Given the description of an element on the screen output the (x, y) to click on. 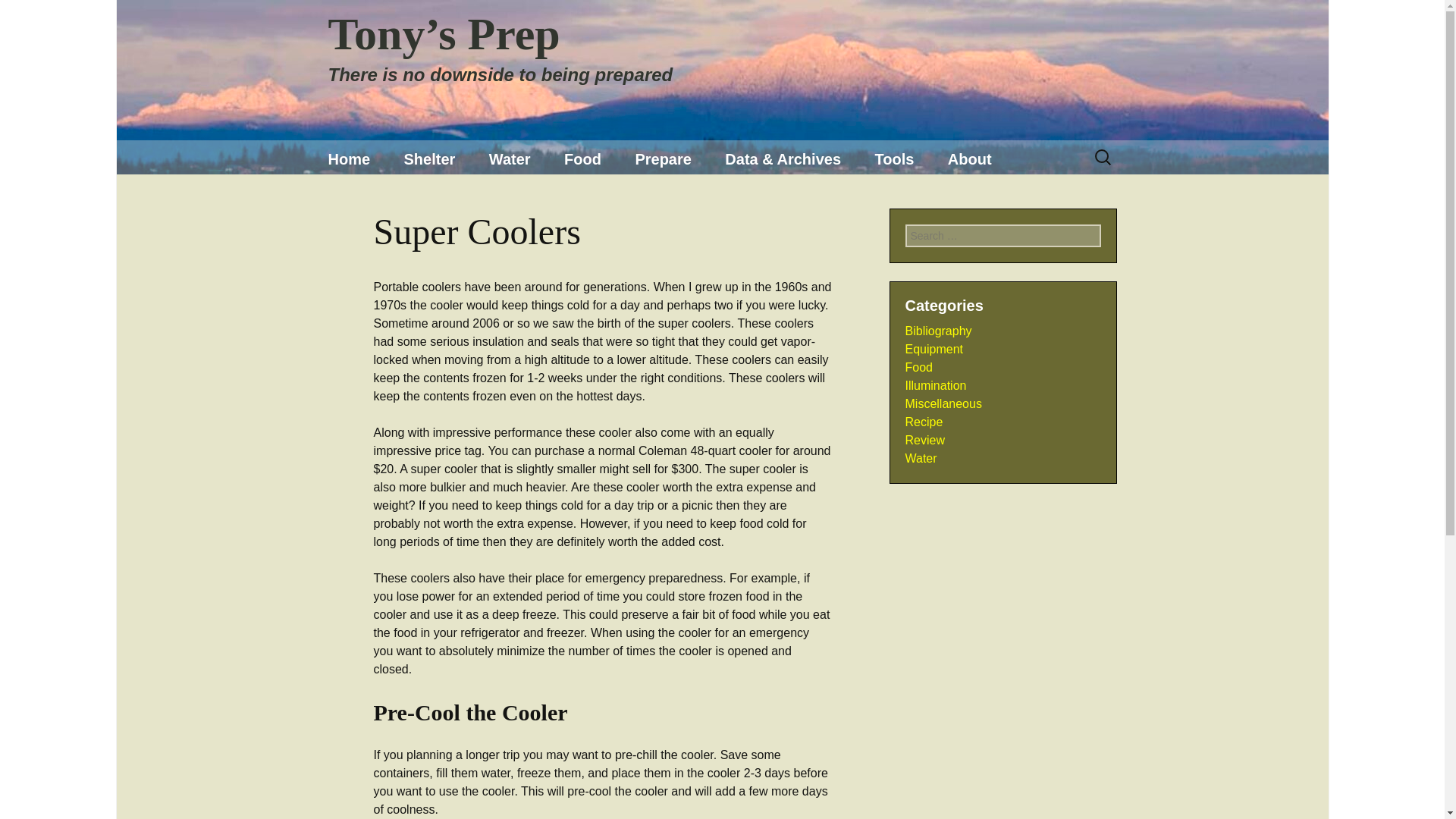
Shelter (429, 159)
Home (349, 159)
Emergencies (695, 197)
Food (581, 159)
Tents (464, 197)
Pantry Food (624, 197)
Prepare (663, 159)
Water Filtration (550, 197)
Getting Started (785, 197)
Water (510, 159)
